Given the description of an element on the screen output the (x, y) to click on. 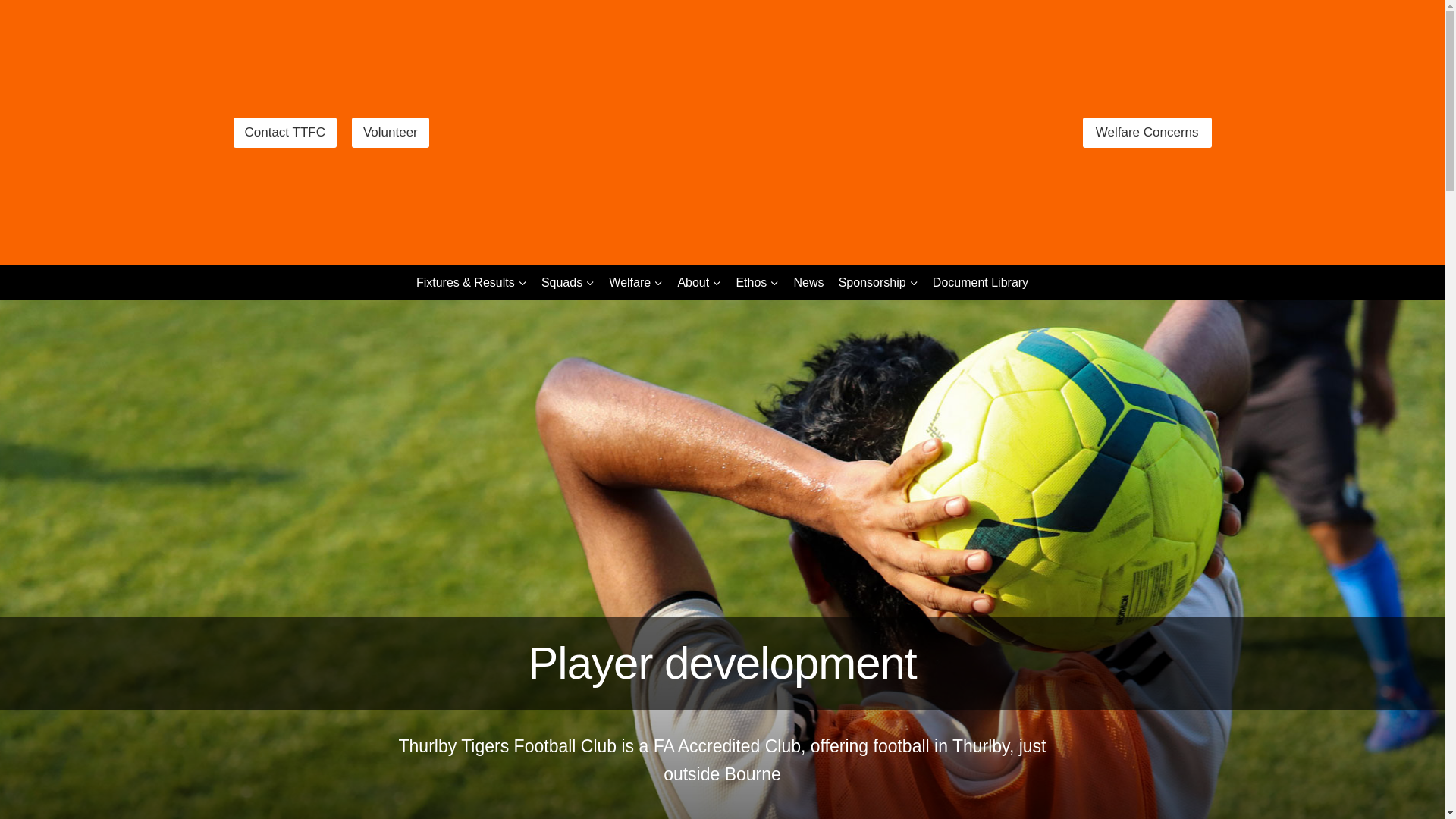
Ethos (757, 282)
Squads (567, 282)
About (699, 282)
Welfare (635, 282)
Welfare Concerns (1147, 132)
Contact TTFC (284, 132)
Volunteer (390, 132)
